Given the description of an element on the screen output the (x, y) to click on. 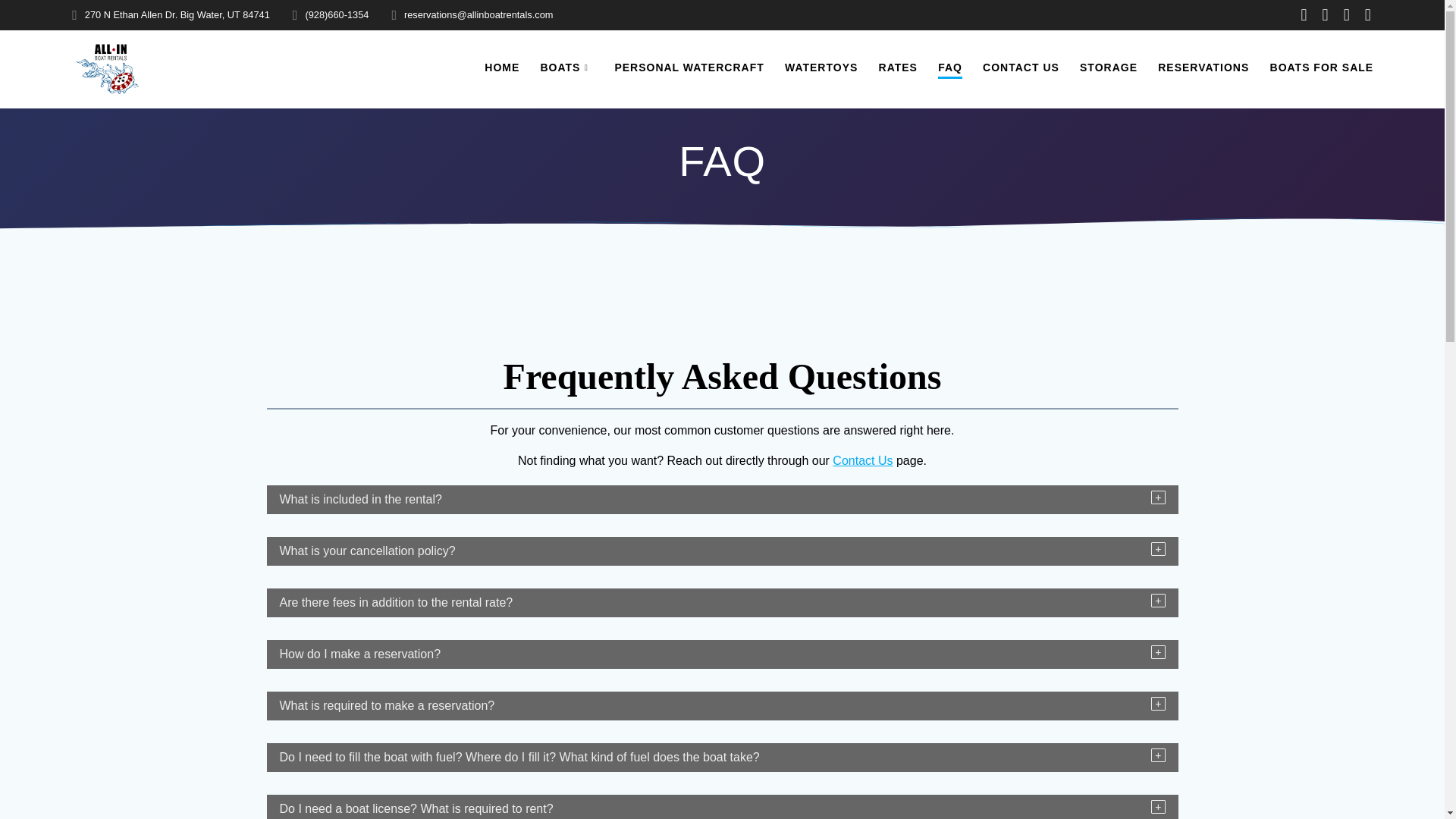
RESERVATIONS (1203, 67)
Contact Us (862, 460)
WATERTOYS (820, 67)
PERSONAL WATERCRAFT (688, 67)
CONTACT US (1020, 67)
FAQ (949, 67)
STORAGE (1108, 67)
RATES (898, 67)
BOATS FOR SALE (1321, 67)
HOME (501, 67)
